Given the description of an element on the screen output the (x, y) to click on. 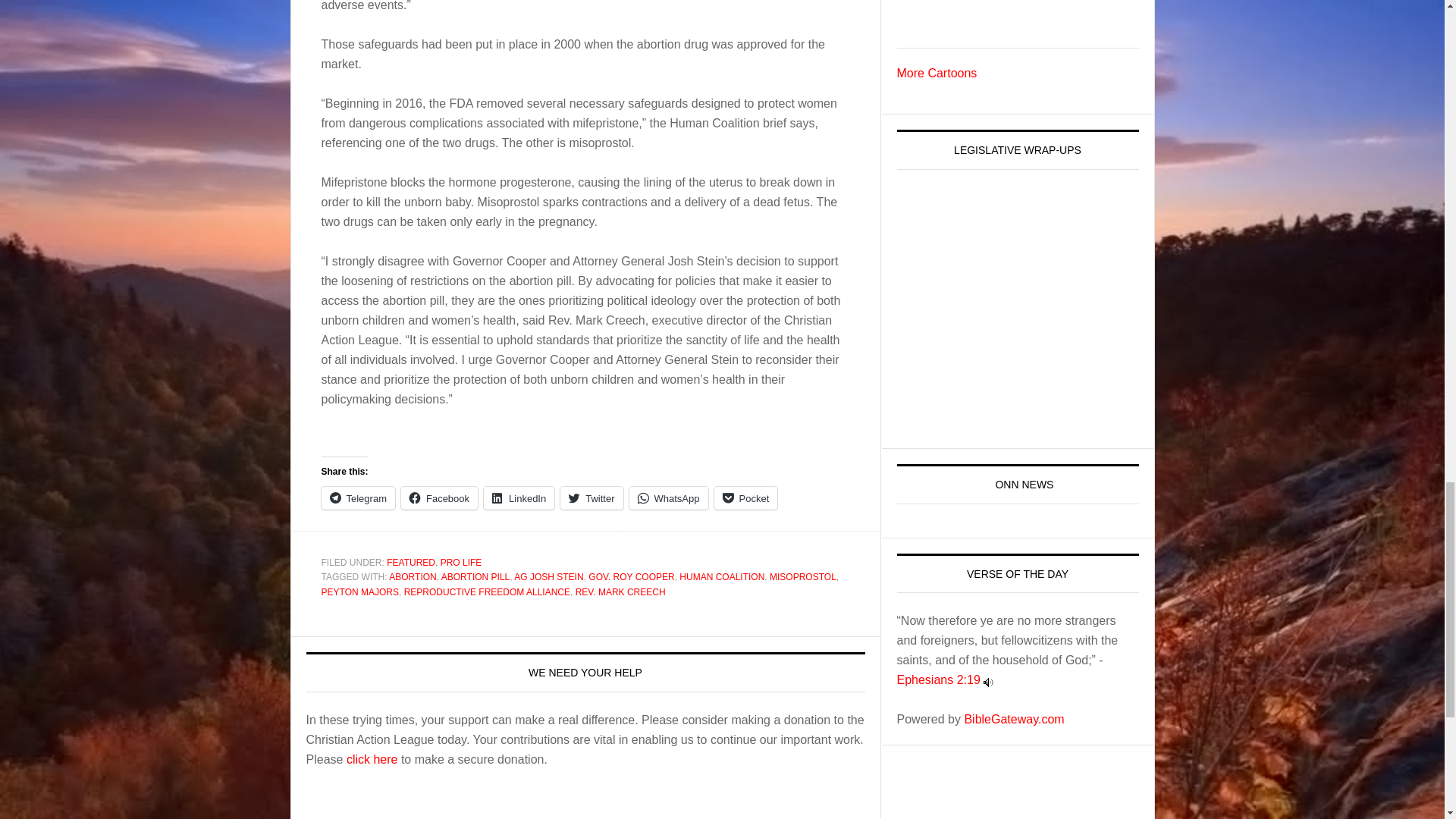
REV. MARK CREECH (620, 592)
Pocket (745, 497)
MISOPROSTOL (802, 576)
ABORTION (411, 576)
ABORTION PILL (475, 576)
PEYTON MAJORS (359, 592)
Click to share on Twitter (591, 497)
Click to share on Pocket (745, 497)
REPRODUCTIVE FREEDOM ALLIANCE (487, 592)
Facebook (439, 497)
